Given the description of an element on the screen output the (x, y) to click on. 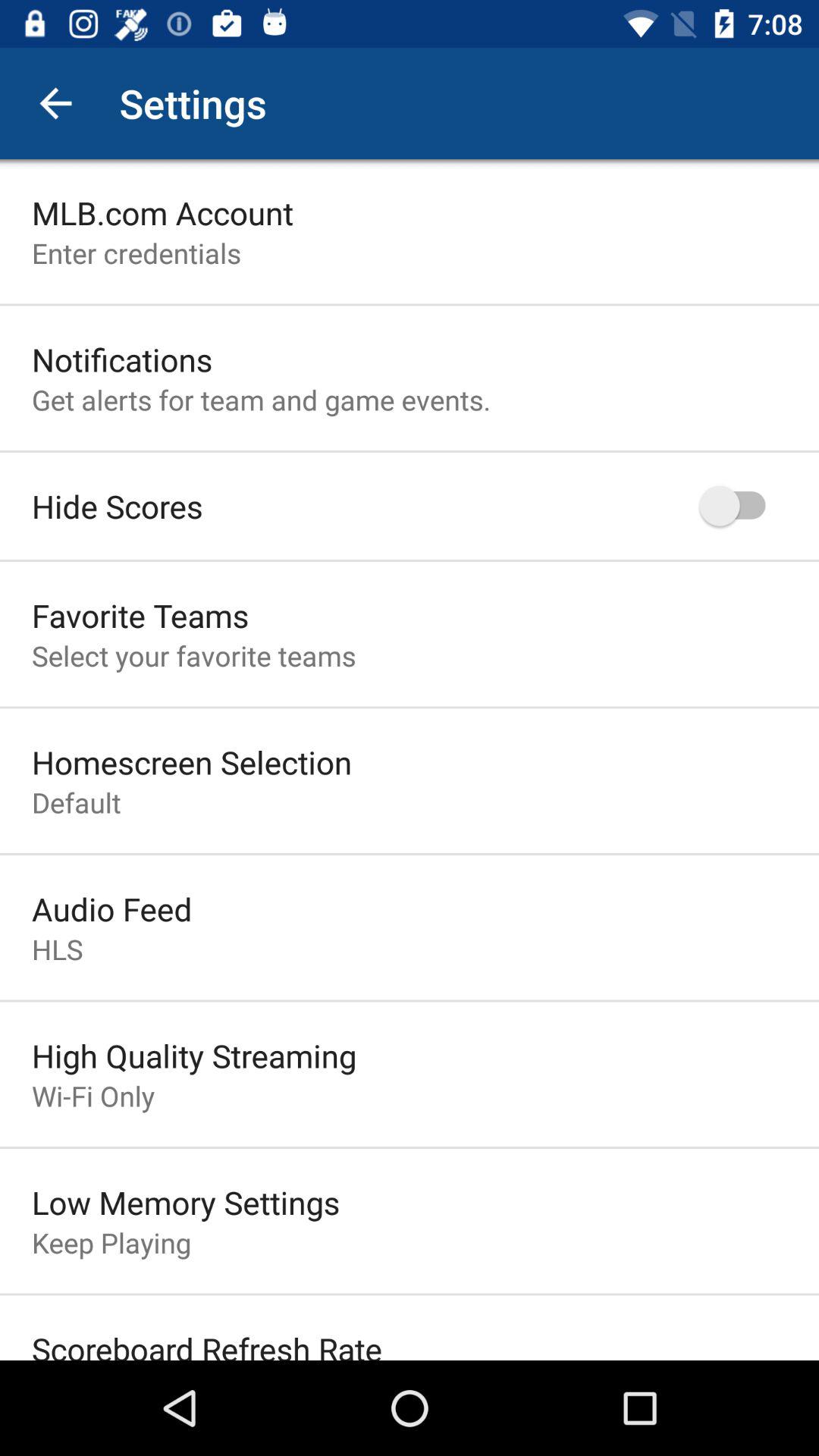
jump to the homescreen selection (191, 761)
